Given the description of an element on the screen output the (x, y) to click on. 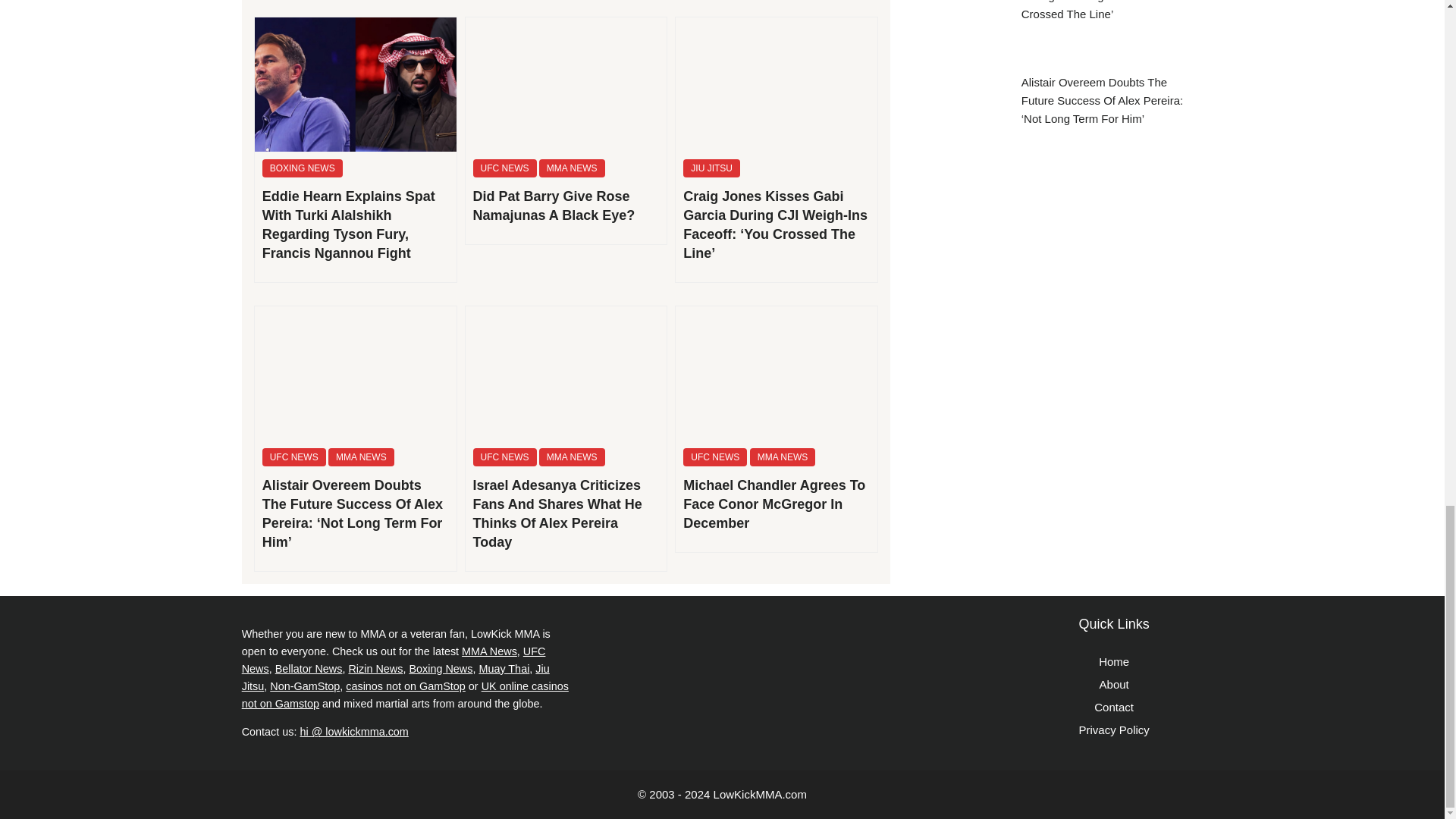
Did Pat Barry give Rose Namajunas a Black Eye? 2 (565, 84)
Michael Chandler Agrees to Face Conor McGregor in December 6 (776, 373)
